Given the description of an element on the screen output the (x, y) to click on. 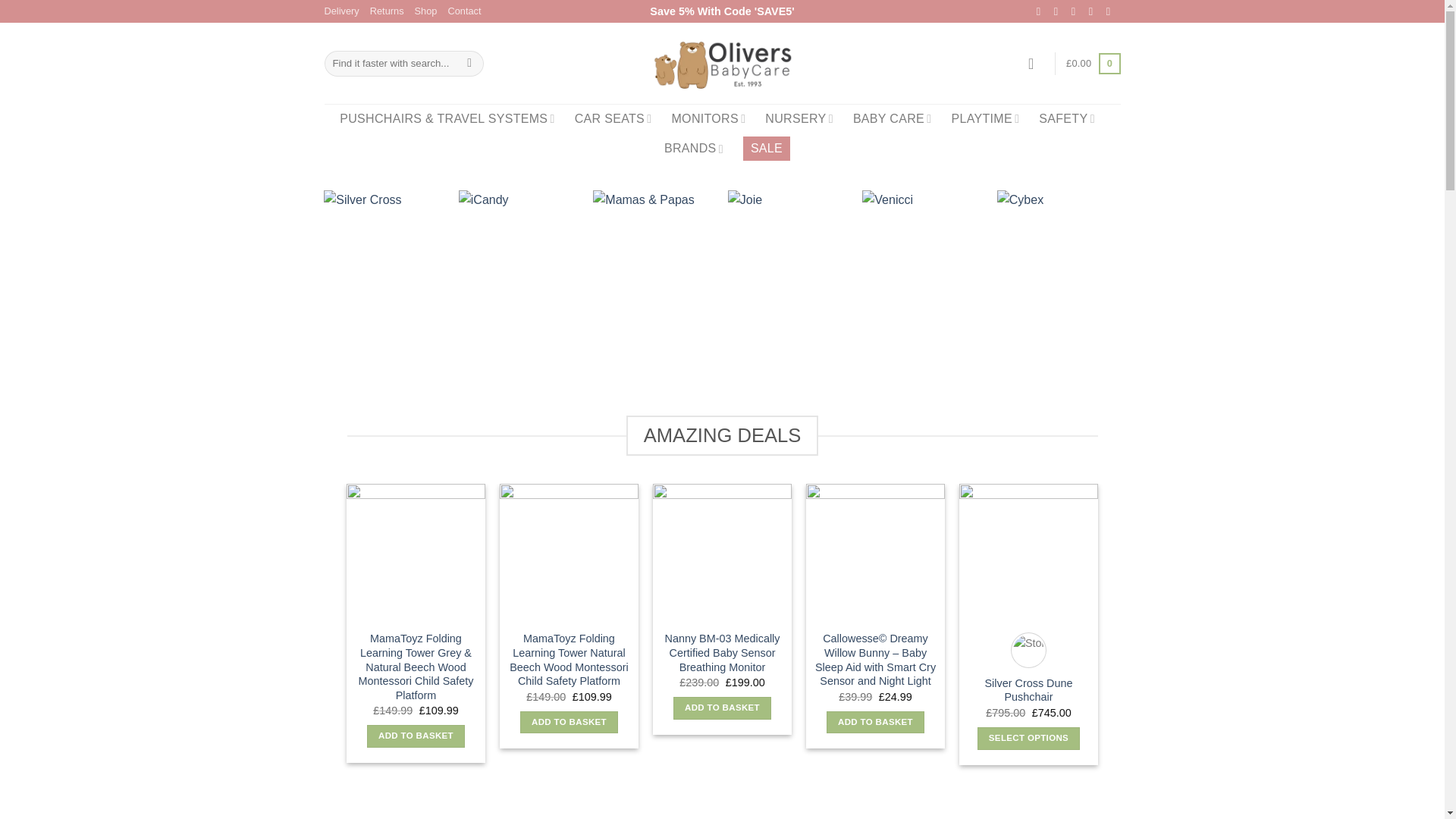
Delivery (341, 11)
Shop (426, 11)
Returns (386, 11)
Basket (1092, 63)
Contact (463, 11)
Search (469, 63)
